Given the description of an element on the screen output the (x, y) to click on. 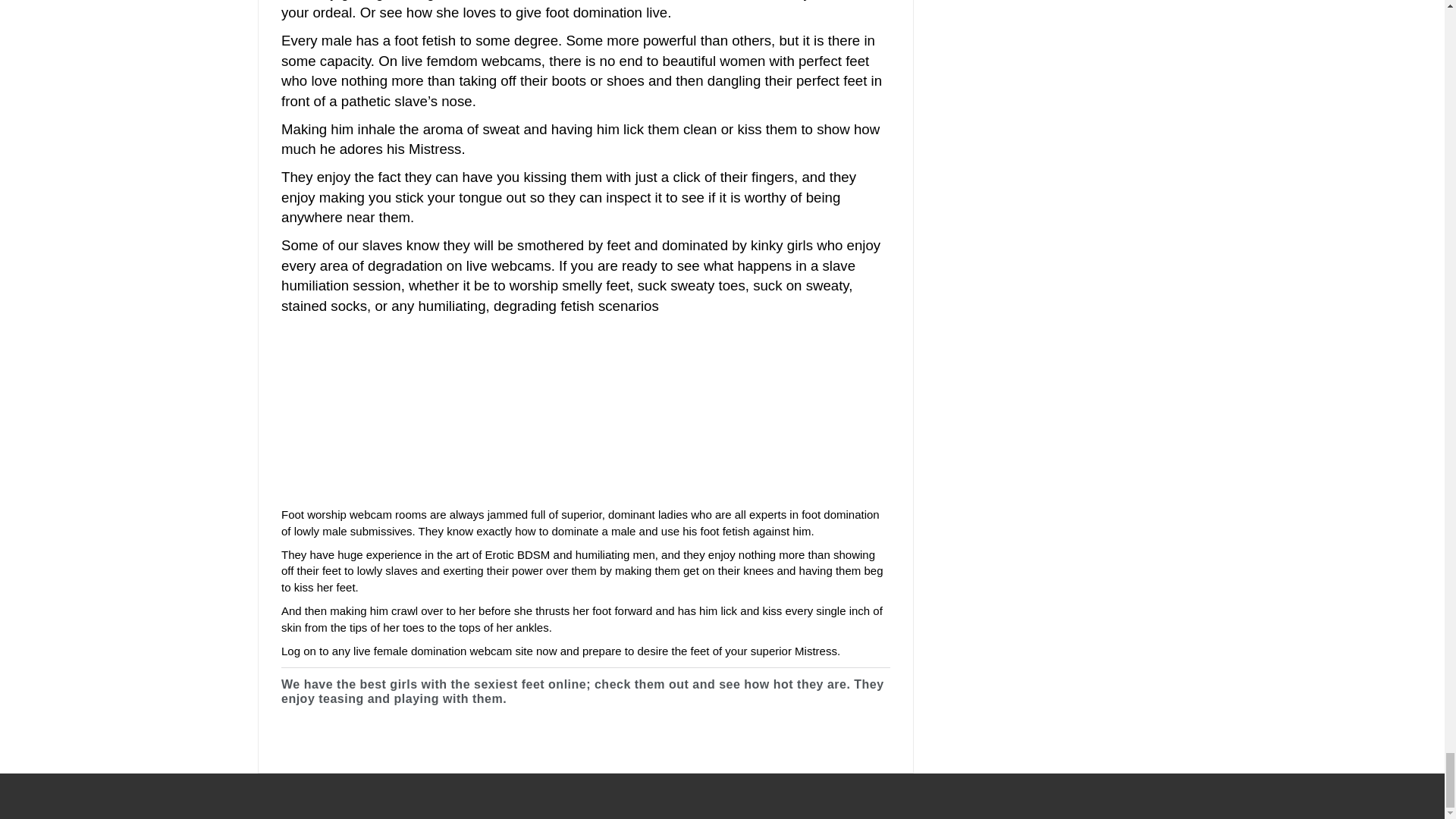
slave humiliation session (568, 275)
